Given the description of an element on the screen output the (x, y) to click on. 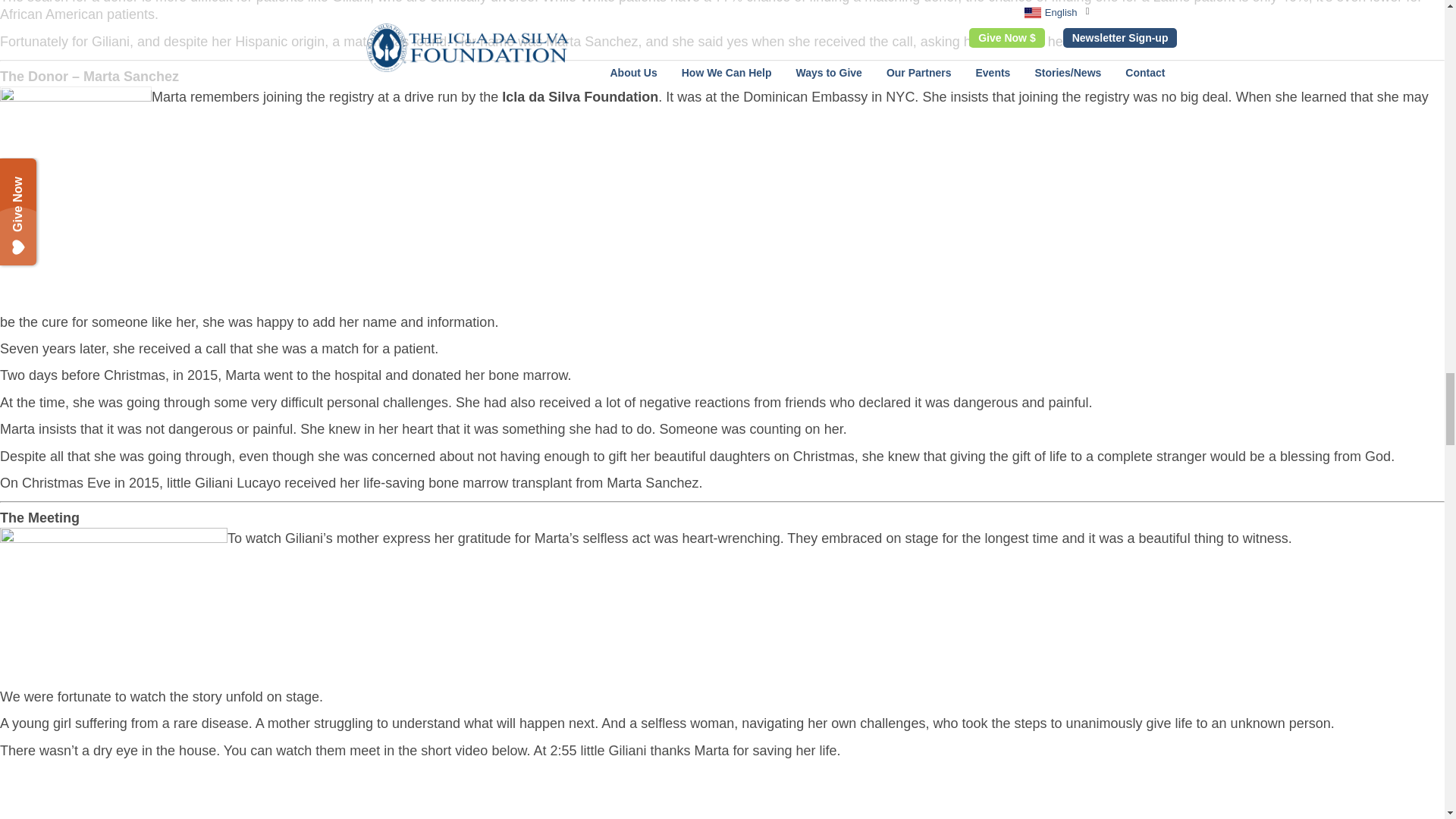
Saved by a Stranger from New York (189, 794)
